Given the description of an element on the screen output the (x, y) to click on. 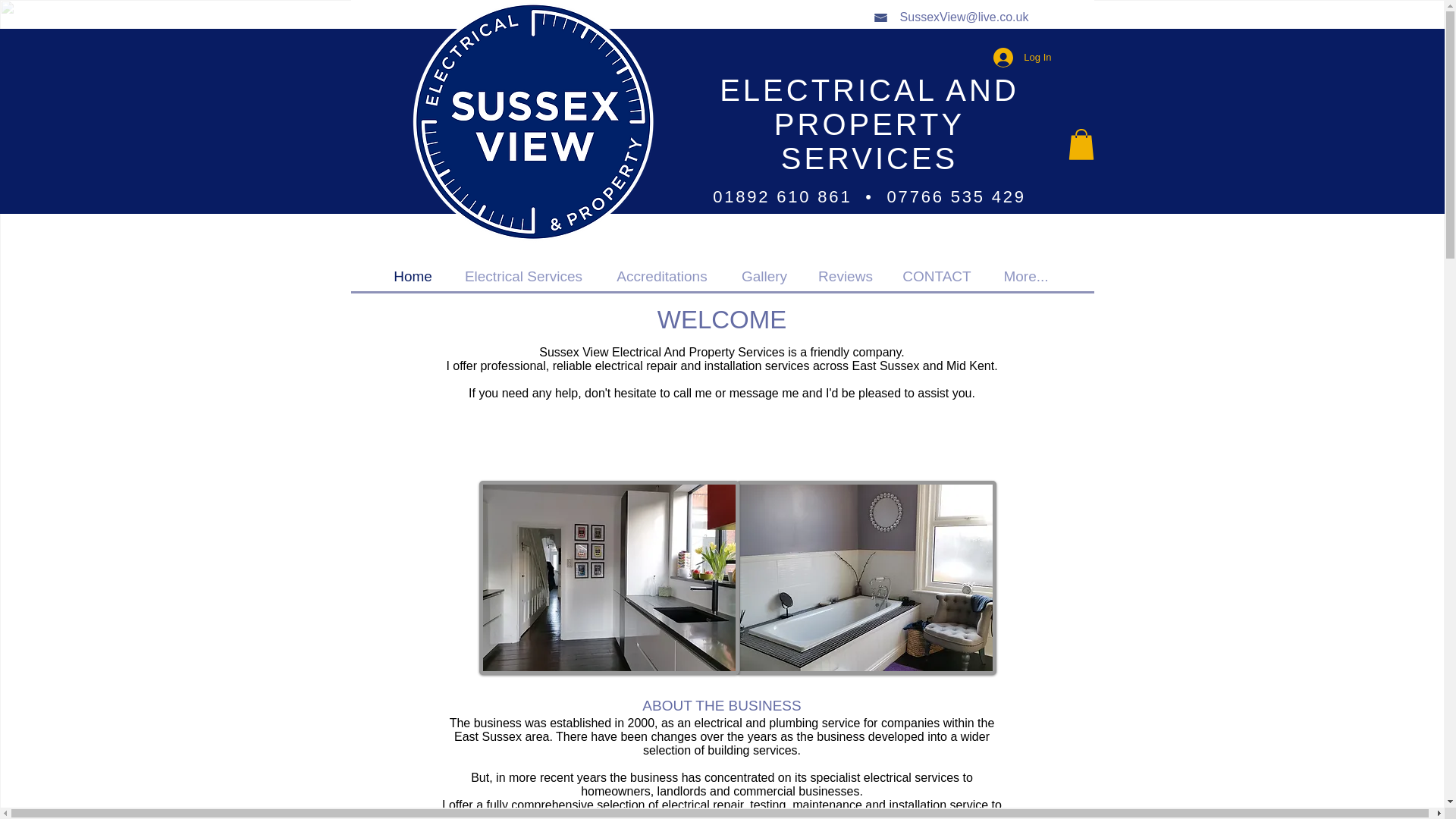
Log In (1021, 57)
Home (412, 276)
Accreditations (661, 276)
Reviews (845, 276)
CONTACT (935, 276)
Electrical Services (523, 276)
Gallery (764, 276)
